Given the description of an element on the screen output the (x, y) to click on. 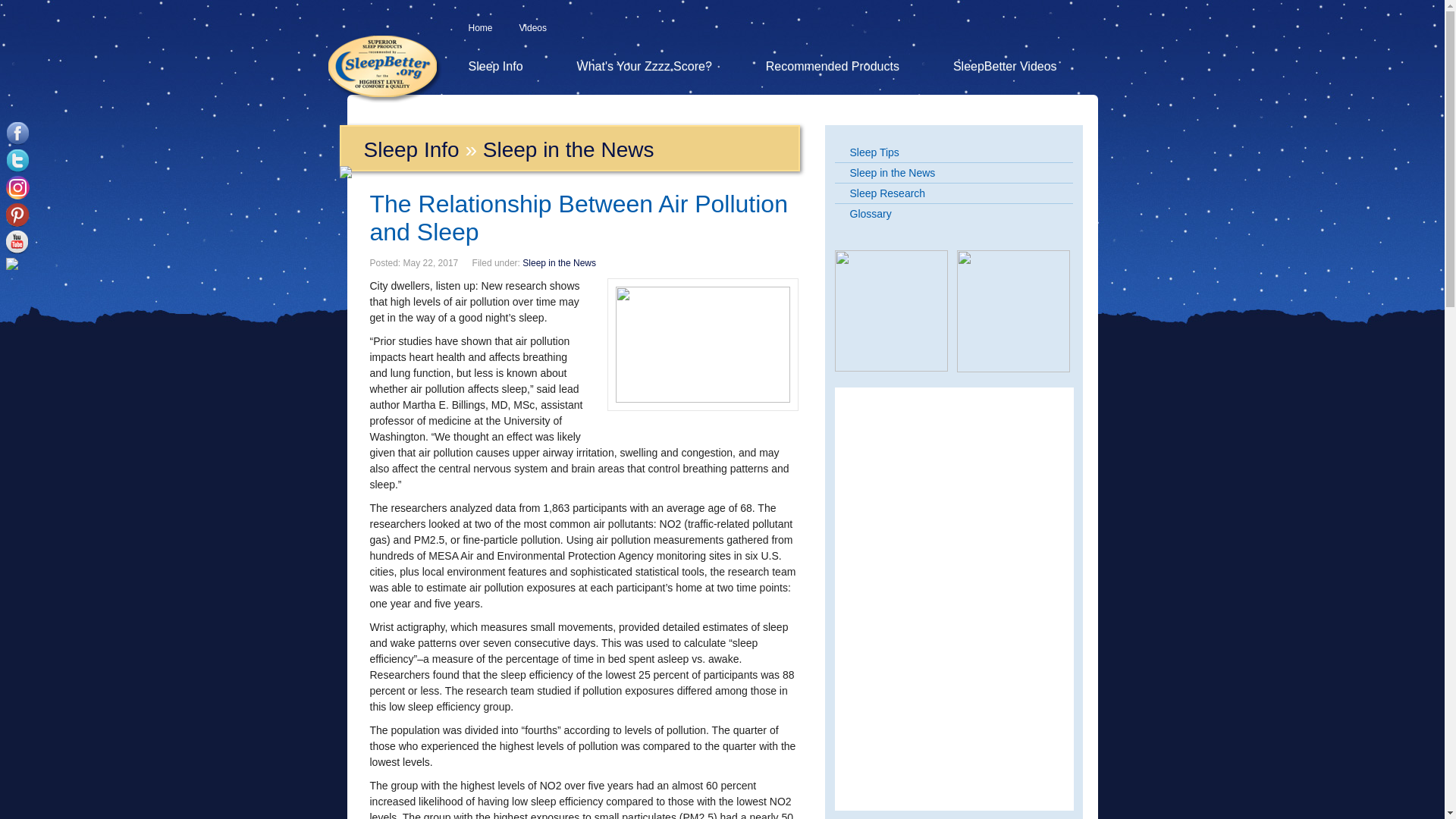
Home (480, 27)
What's Your Zzzz Score? (644, 66)
Sleep Info (495, 66)
Search (1084, 29)
Videos (533, 27)
Recommended Products (831, 66)
Search (1084, 29)
SleepBetter Videos (1005, 66)
